Given the description of an element on the screen output the (x, y) to click on. 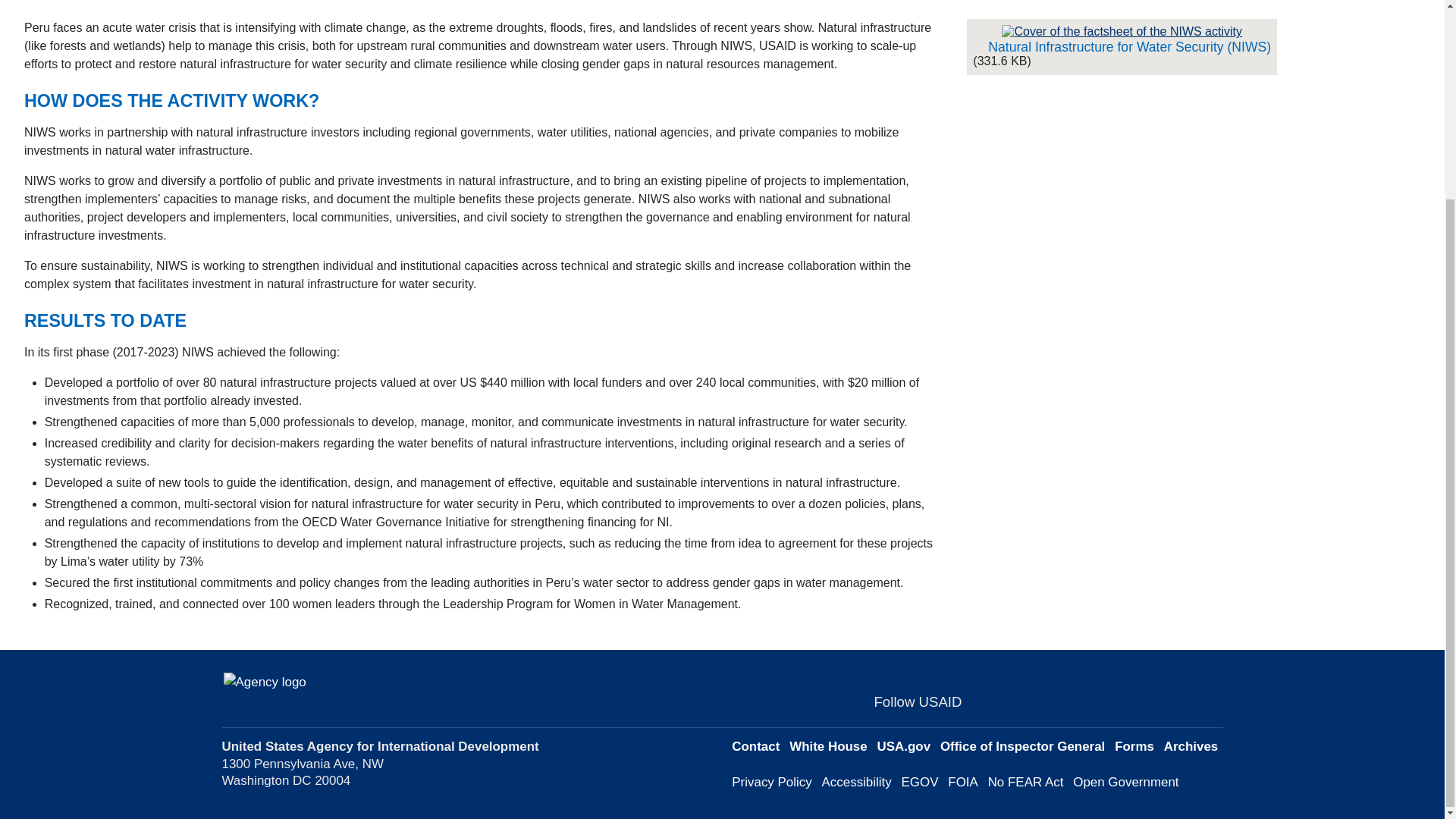
File: NIWS-2-FS-English-July 2023.pdf (1121, 31)
